Given the description of an element on the screen output the (x, y) to click on. 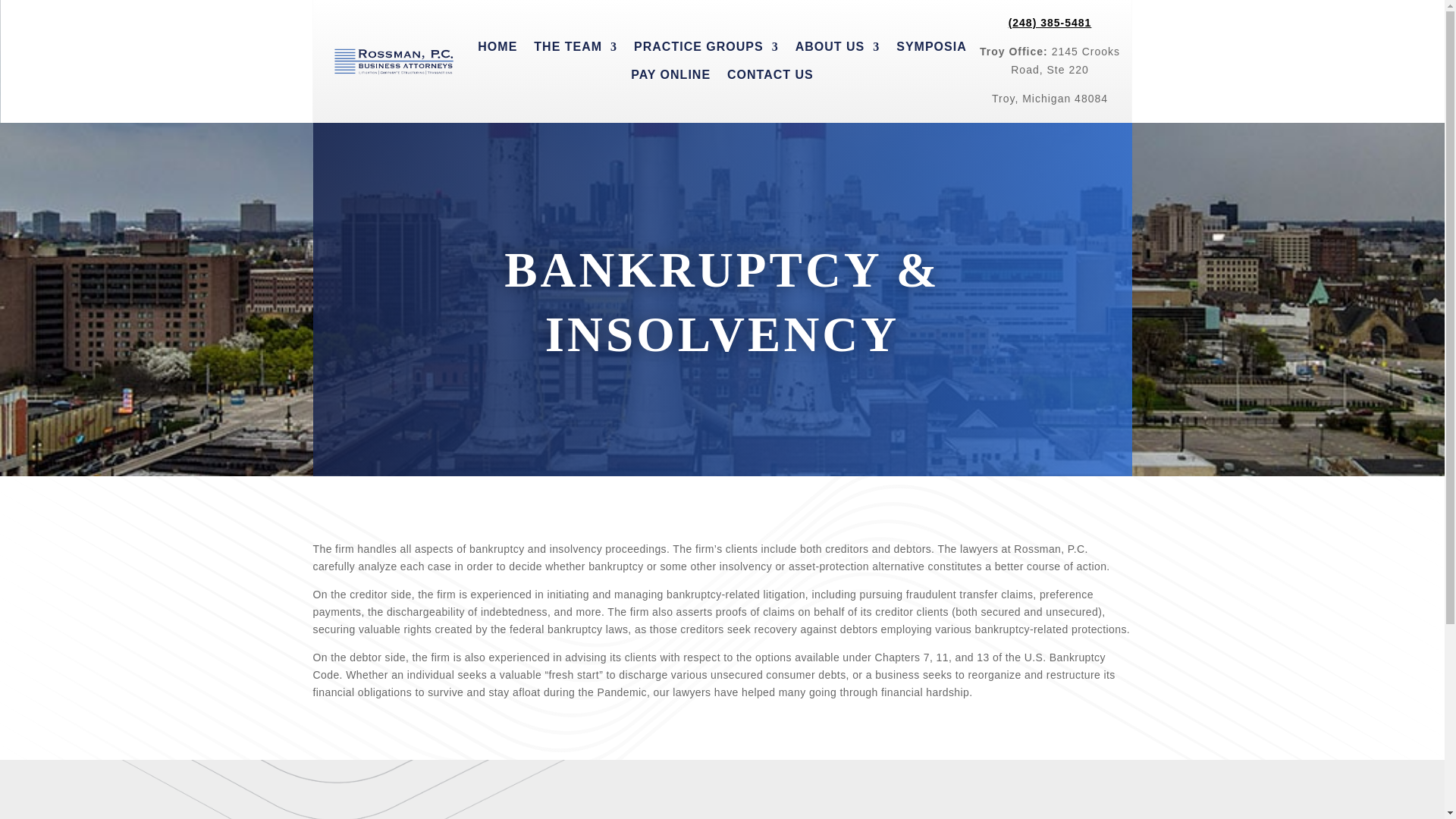
Updated Rossman Logo in Color (395, 60)
CONTACT US (769, 78)
ABOUT US (837, 50)
THE TEAM (575, 50)
SYMPOSIA (931, 50)
HOME (496, 50)
PRACTICE GROUPS (705, 50)
PAY ONLINE (670, 78)
